Given the description of an element on the screen output the (x, y) to click on. 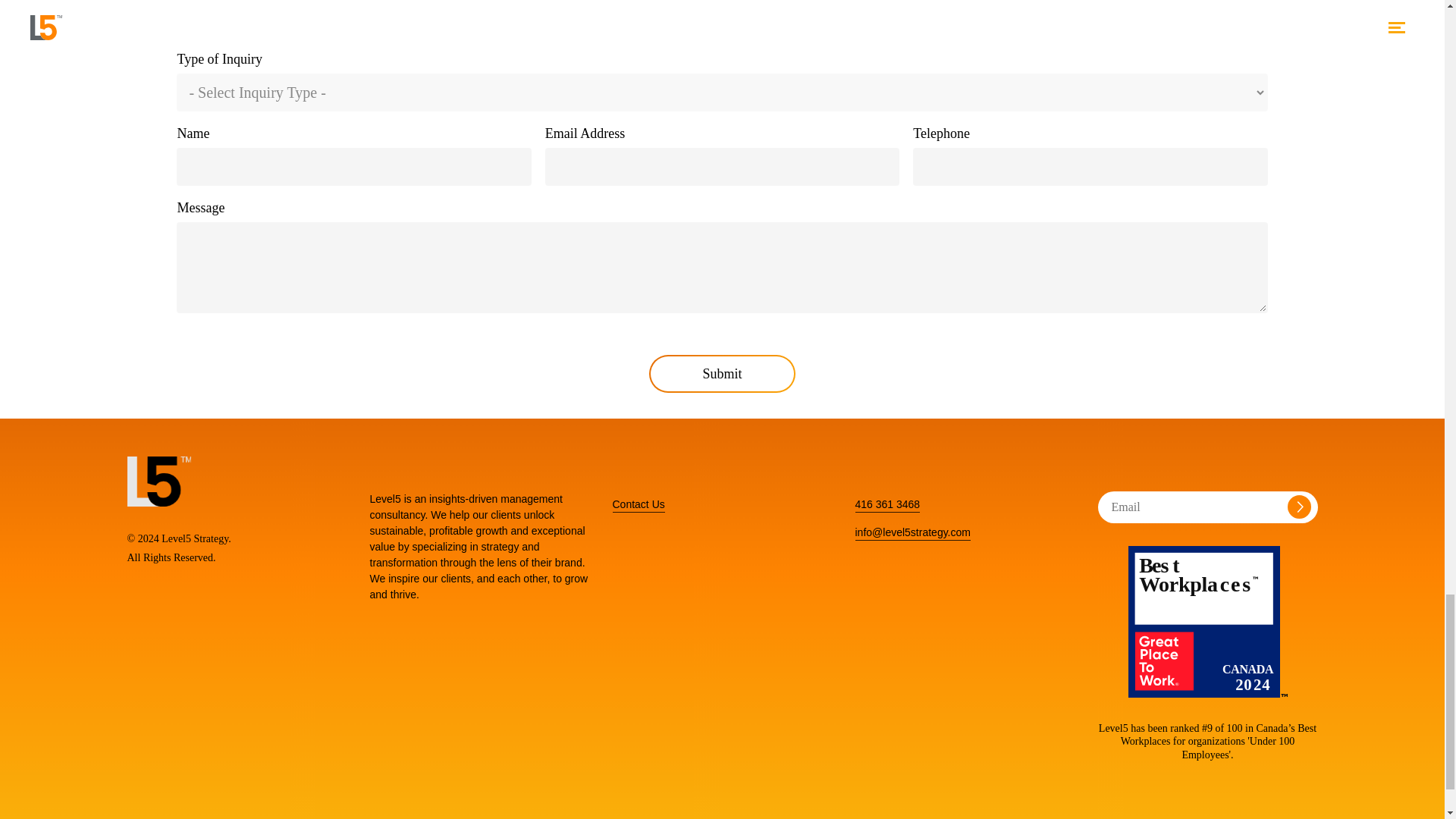
416 361 3468 (888, 504)
Submit (721, 373)
Submit (721, 373)
Contact Us (638, 504)
